Given the description of an element on the screen output the (x, y) to click on. 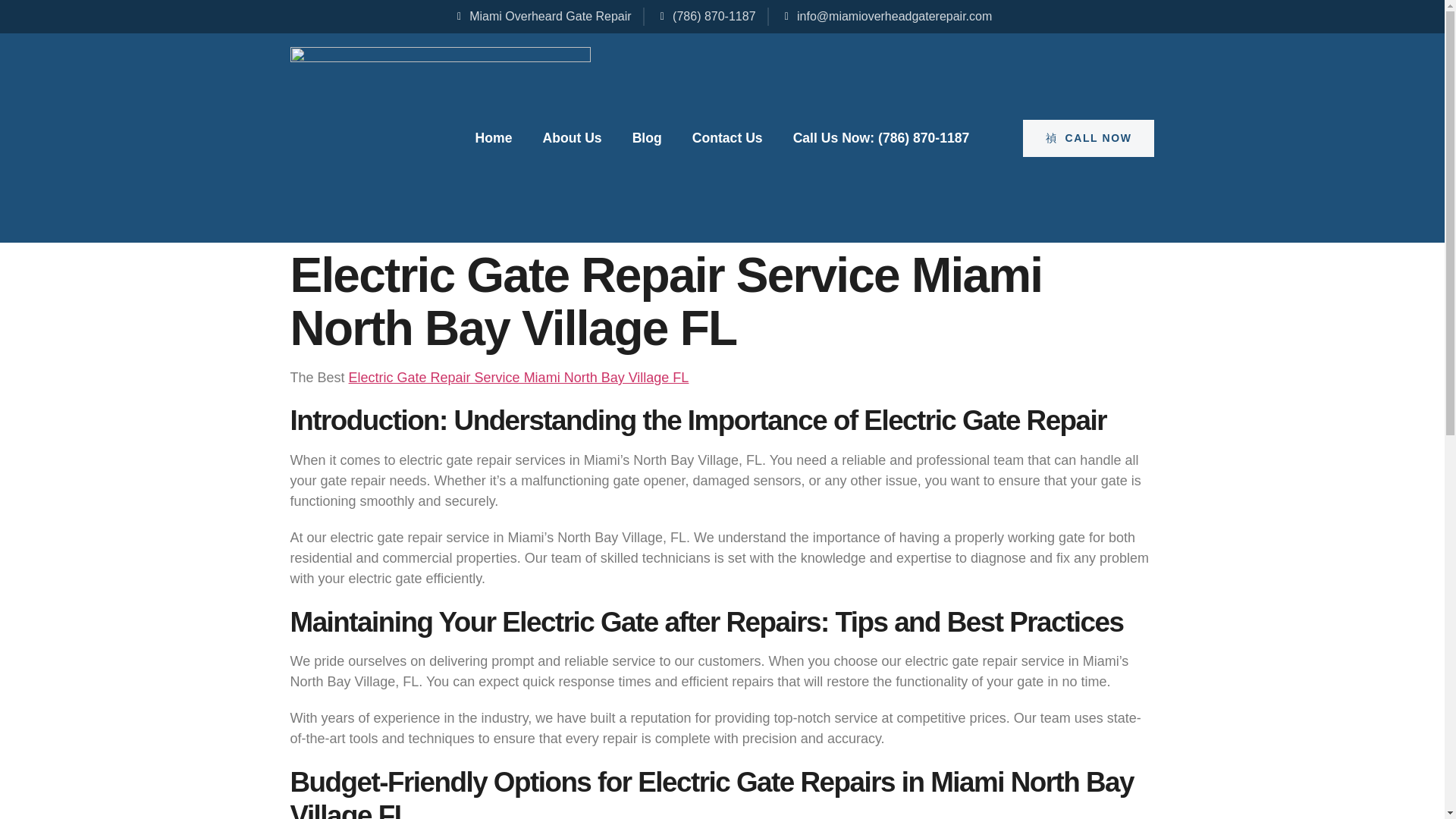
Home (494, 138)
CALL NOW (1088, 138)
Contact Us (727, 138)
About Us (571, 138)
Electric Gate Repair Service Miami North Bay Village FL (518, 377)
Miami Overheard Gate Repair (541, 16)
